Given the description of an element on the screen output the (x, y) to click on. 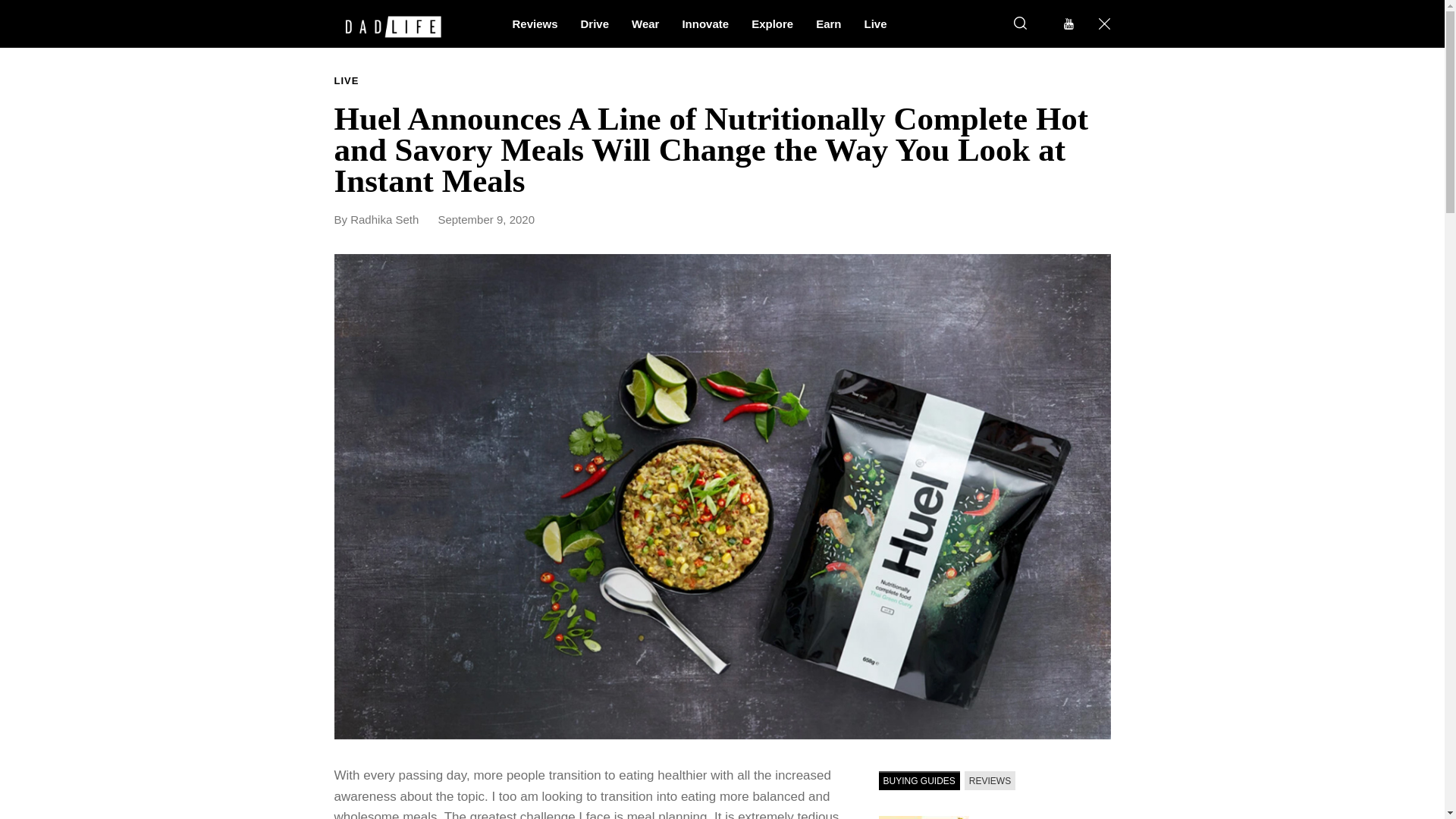
Drive (594, 22)
By Radhika Seth (383, 219)
REVIEWS (988, 780)
BUYING GUIDES (918, 780)
Explore (772, 22)
Live (875, 22)
Reviews (534, 22)
LIVE (345, 81)
Innovate (704, 22)
Earn (828, 22)
Wear (644, 22)
